Given the description of an element on the screen output the (x, y) to click on. 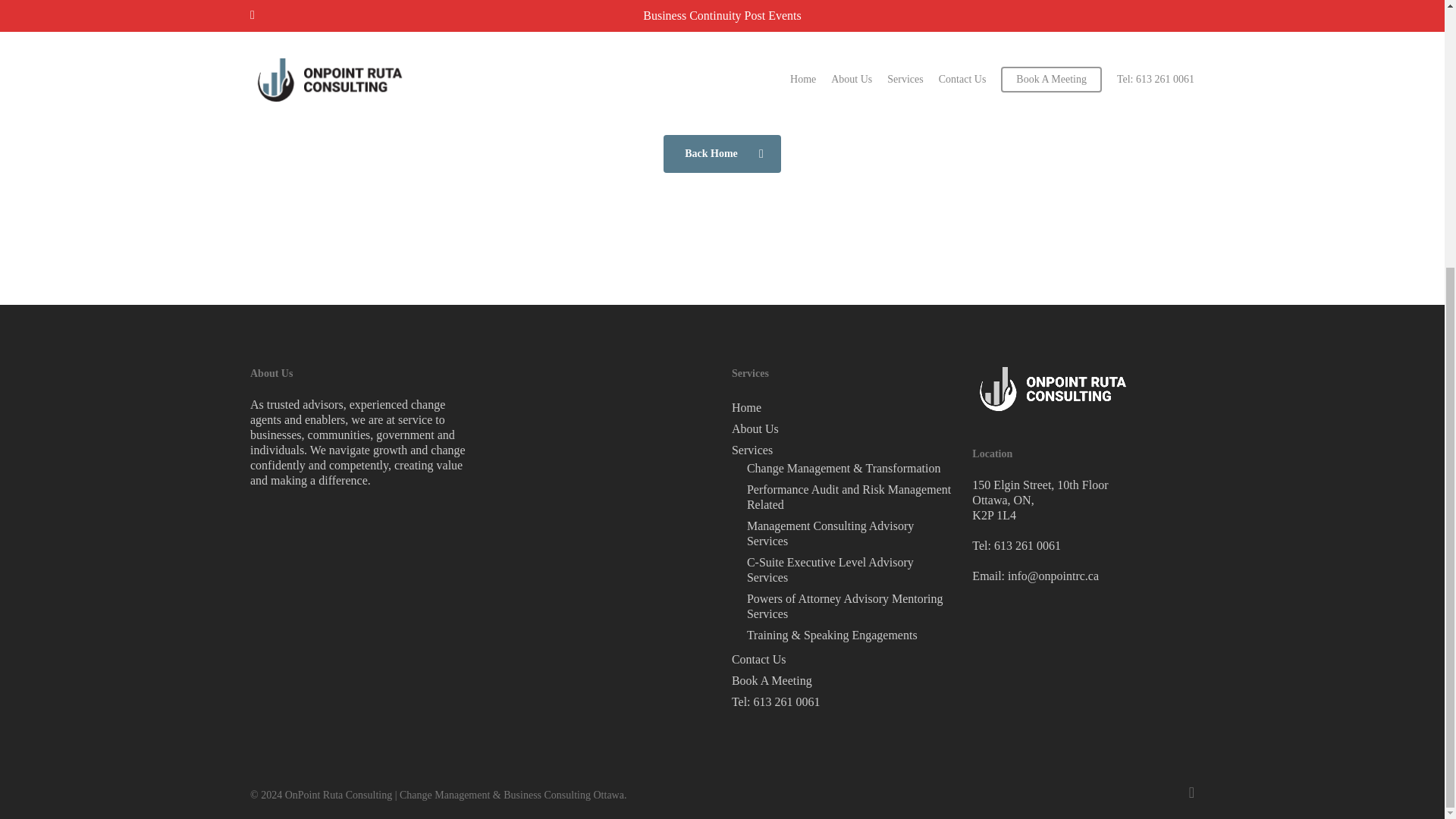
Performance Audit and Risk Management Related (849, 497)
Back Home (721, 152)
Powers of Attorney Advisory Mentoring Services (849, 606)
Tel: 613 261 0061 (842, 702)
C-Suite Executive Level Advisory Services (849, 570)
Services (842, 450)
Book A Meeting (842, 680)
About Us (842, 428)
613 261 0061 (1027, 545)
Home (842, 407)
